Given the description of an element on the screen output the (x, y) to click on. 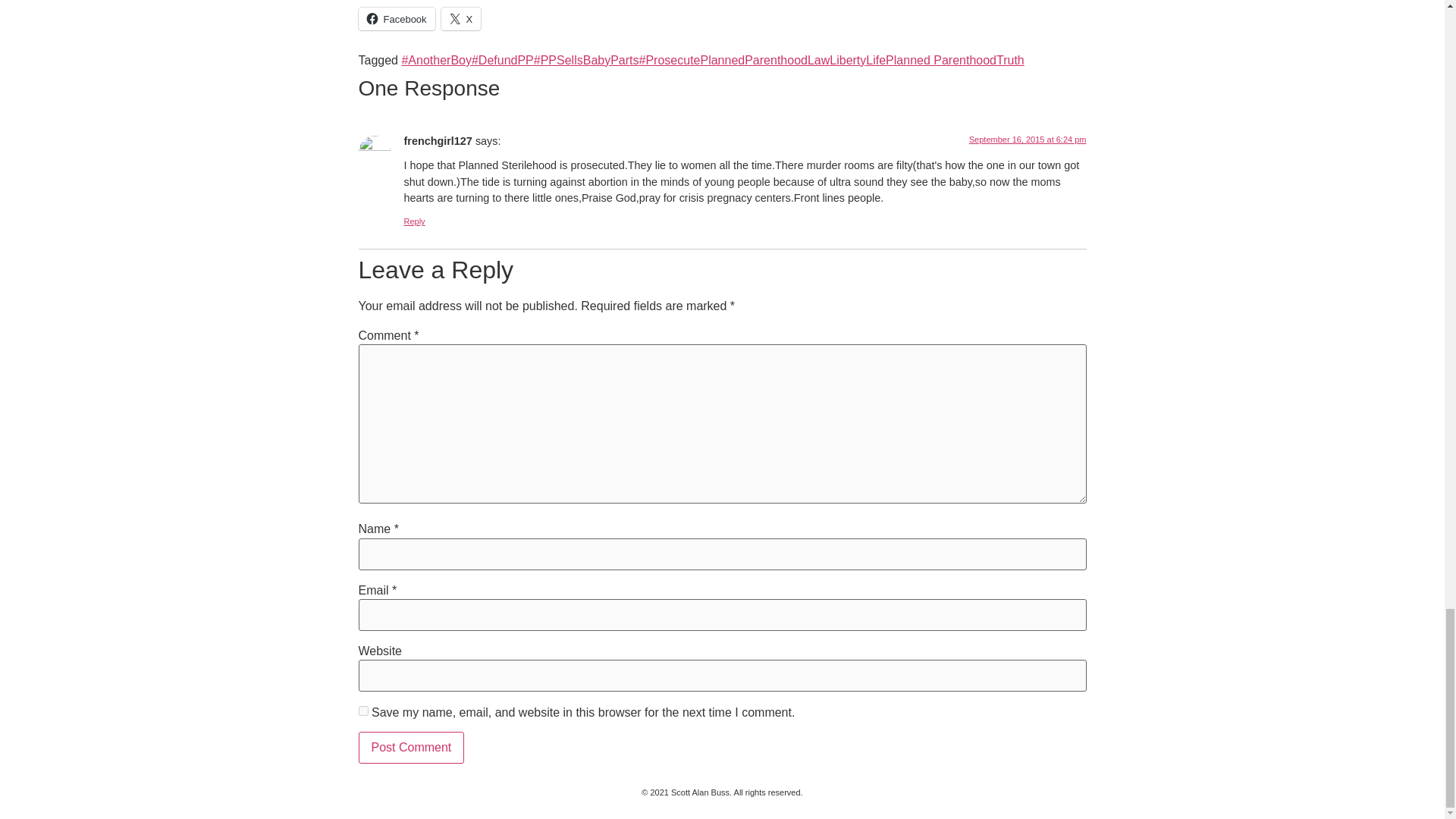
Law (818, 60)
X (461, 18)
Facebook (395, 18)
Truth (1010, 60)
Liberty (847, 60)
Click to share on X (461, 18)
Post Comment (411, 747)
yes (363, 710)
Life (875, 60)
Planned Parenthood (940, 60)
Click to share on Facebook (395, 18)
